Given the description of an element on the screen output the (x, y) to click on. 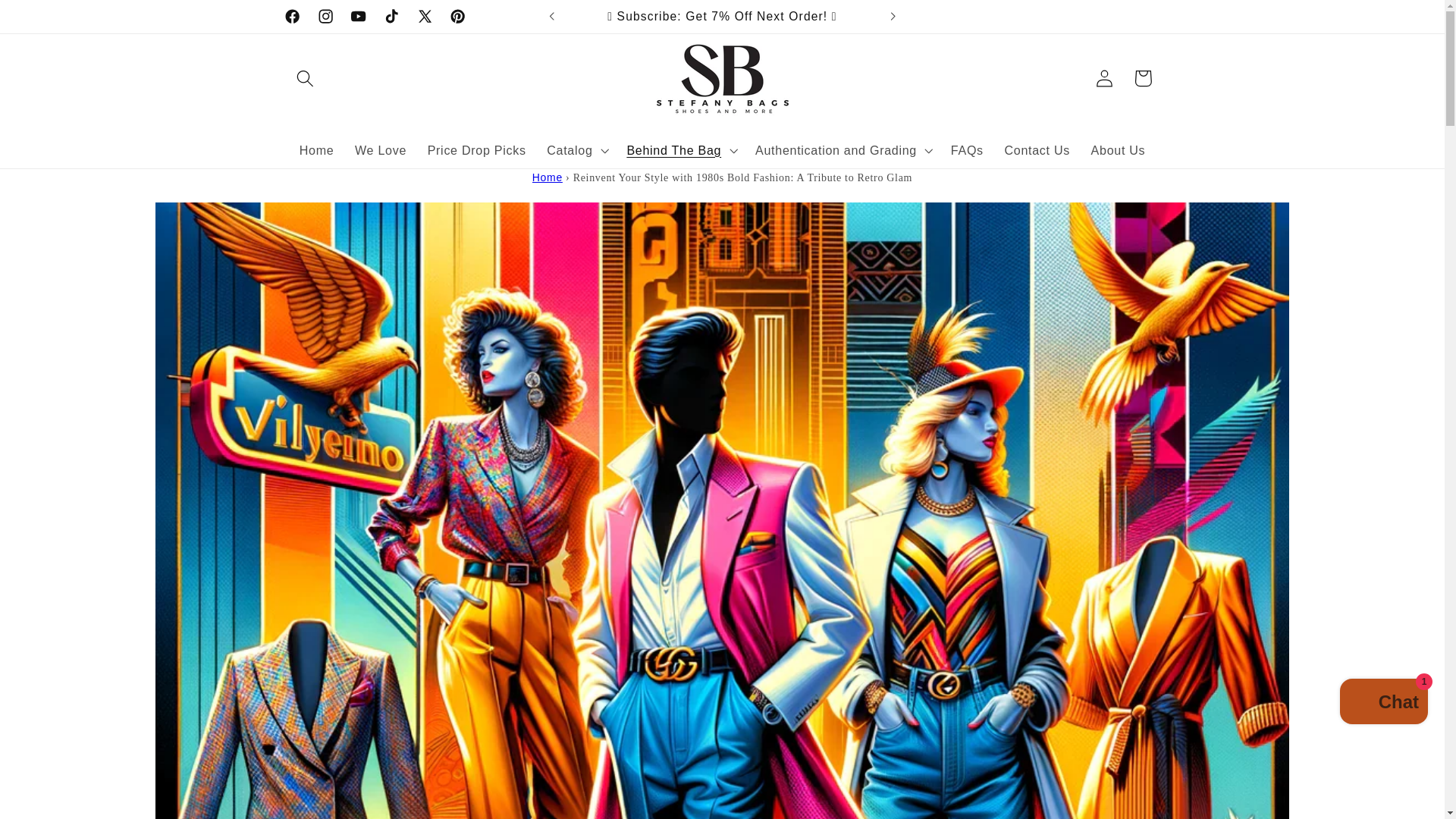
Facebook (292, 16)
Instagram (325, 16)
Also at My Vestiaire Collective Store (1036, 16)
Shopify online store chat (1383, 703)
YouTube (358, 16)
TikTok (392, 16)
Pinterest (457, 16)
Skip to content (52, 20)
Home (547, 177)
